Given the description of an element on the screen output the (x, y) to click on. 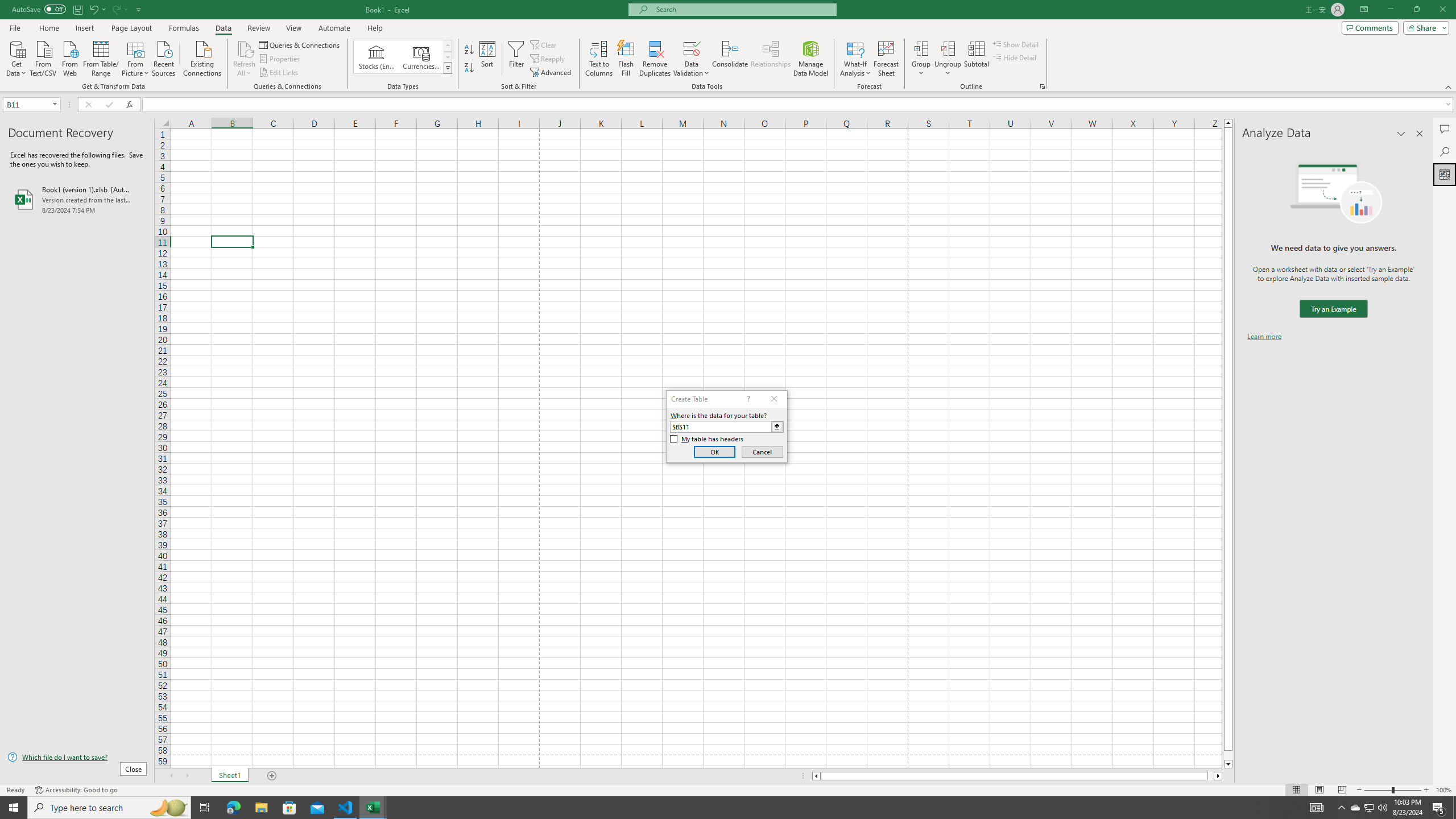
Clear (544, 44)
Review (258, 28)
From Picture (135, 57)
Flash Fill (625, 58)
Advanced... (551, 72)
Analyze Data (1444, 173)
Collapse the Ribbon (1448, 86)
Zoom In (1426, 790)
Class: MsoCommandBar (728, 45)
Book1 (version 1).xlsb  [AutoRecovered] (77, 199)
Manage Data Model (810, 58)
